Given the description of an element on the screen output the (x, y) to click on. 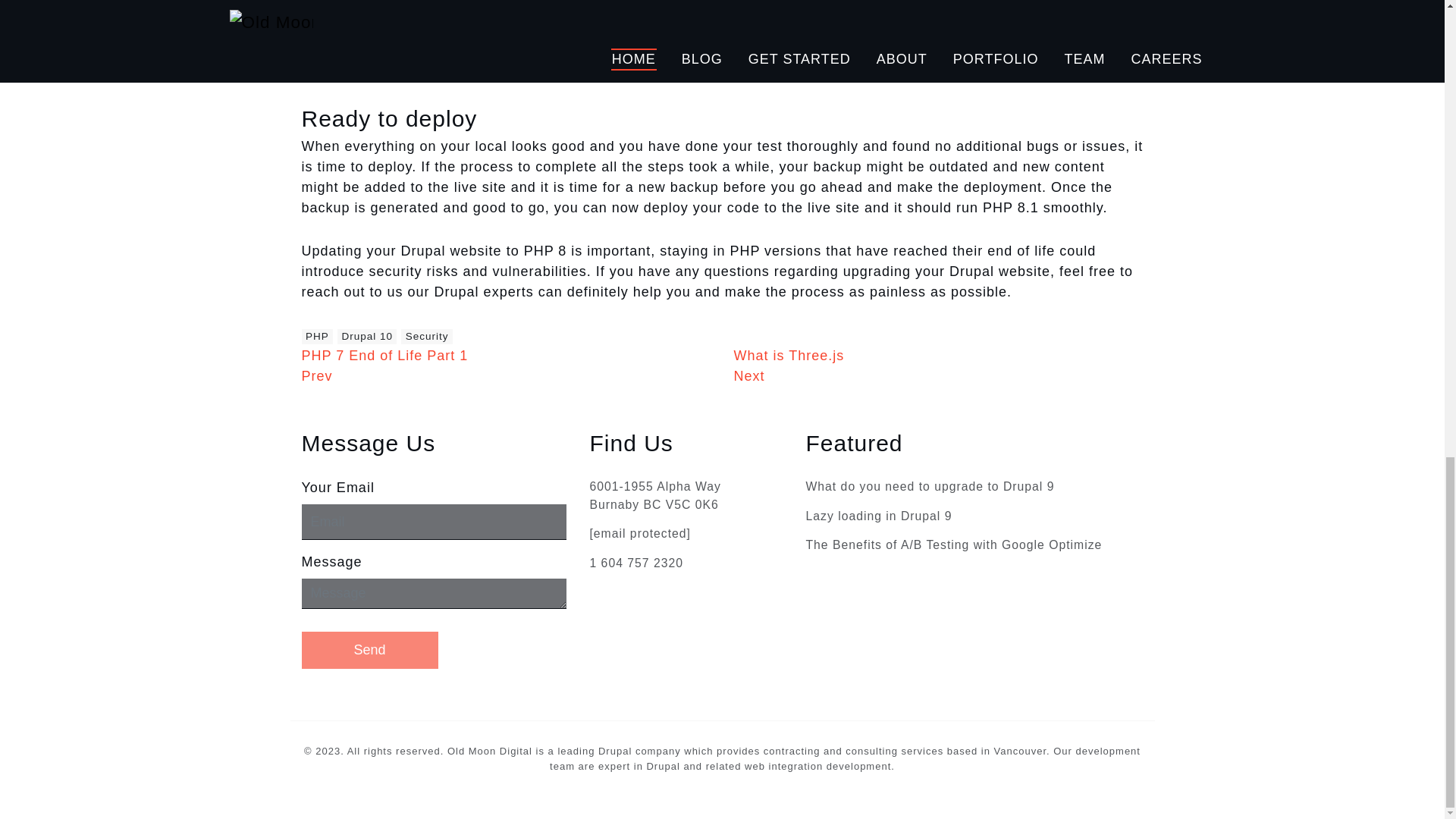
Send (369, 650)
1 604 757 2320 (635, 563)
PHP 7 End of Life Part 1 (384, 356)
Prev (317, 376)
What is Three.js (788, 356)
Next (749, 376)
Lazy loading in Drupal 9 (878, 516)
Send (369, 650)
What do you need to upgrade to Drupal 9 (929, 486)
